Given the description of an element on the screen output the (x, y) to click on. 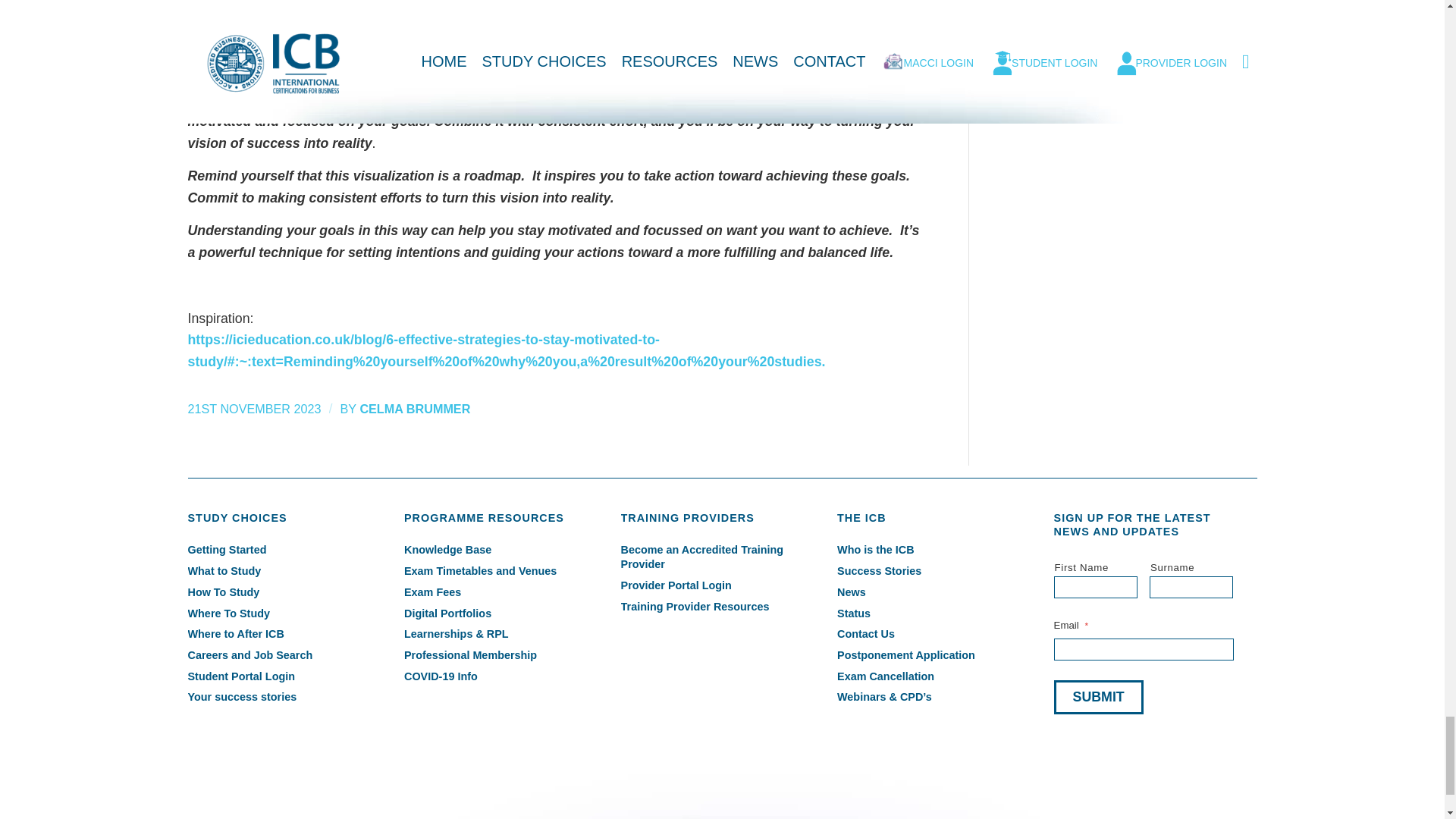
Posts by Celma Brummer (414, 408)
Submit (1098, 697)
